Given the description of an element on the screen output the (x, y) to click on. 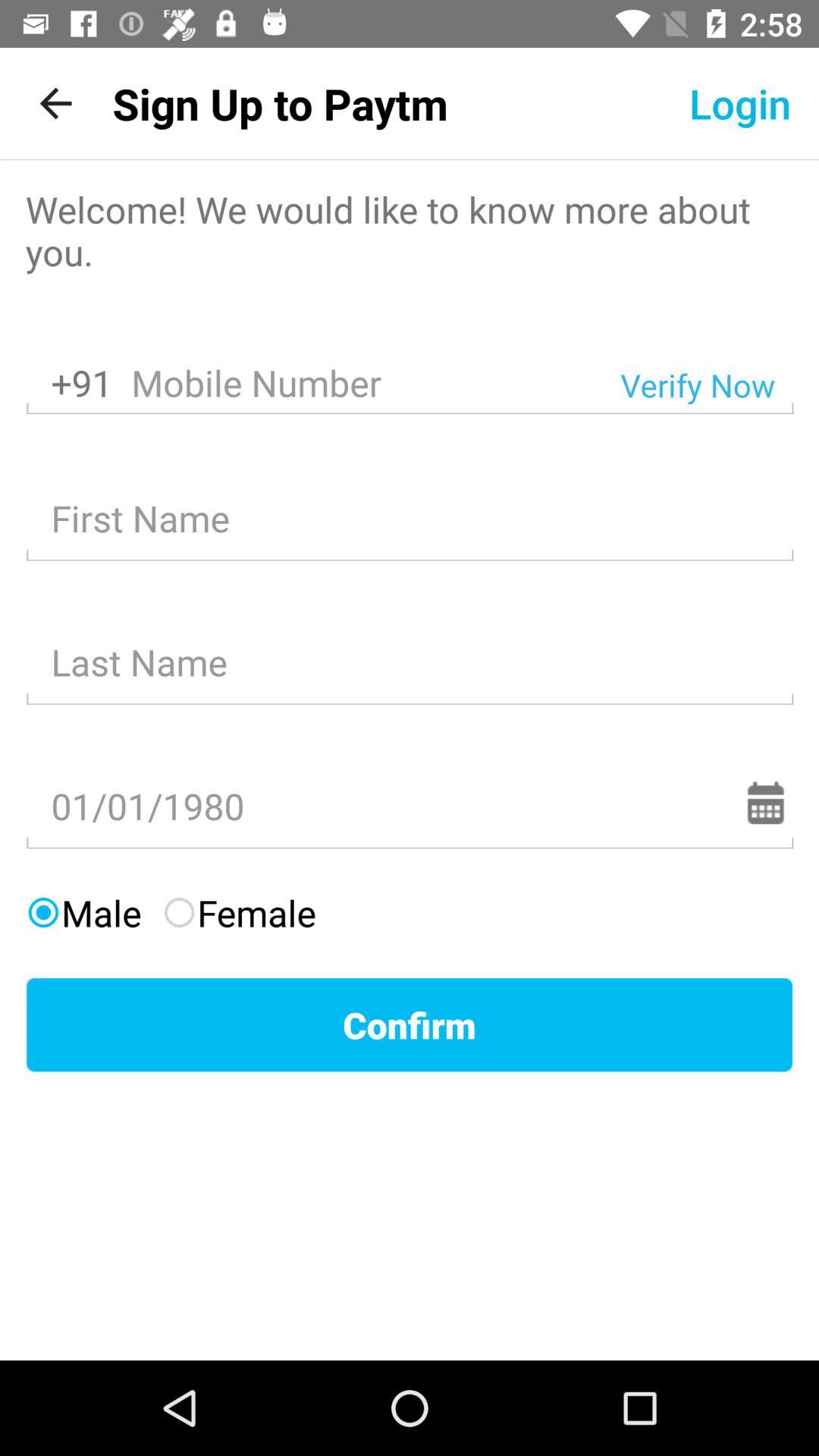
tap the icon above the welcome we would (55, 103)
